Given the description of an element on the screen output the (x, y) to click on. 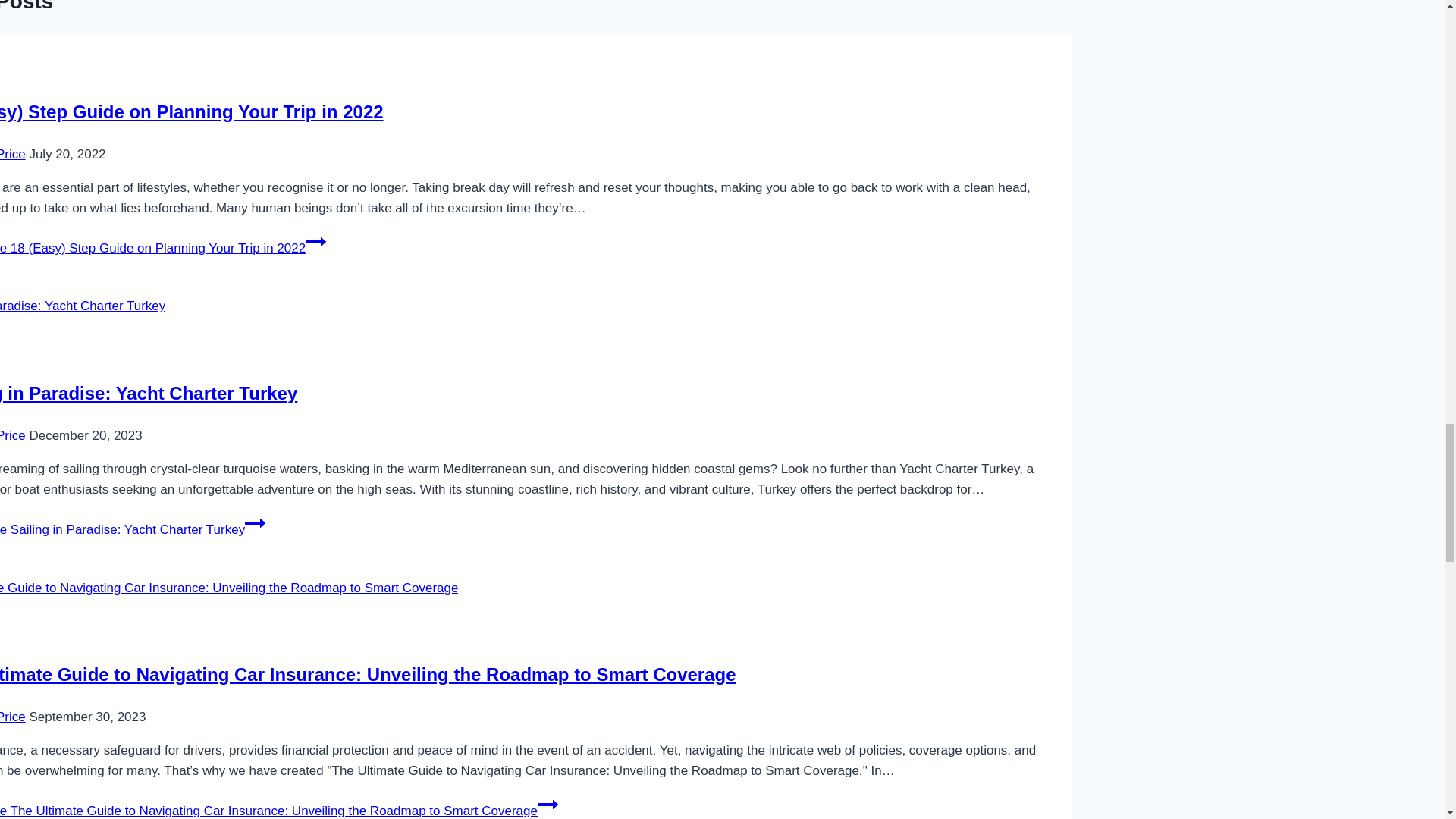
Continue (315, 241)
Read More Sailing in Paradise: Yacht Charter TurkeyContinue (132, 529)
Aaron Price (13, 154)
Aaron Price (13, 435)
Sailing in Paradise: Yacht Charter Turkey (148, 393)
Aaron Price (13, 716)
Continue (547, 803)
Continue (254, 522)
